Given the description of an element on the screen output the (x, y) to click on. 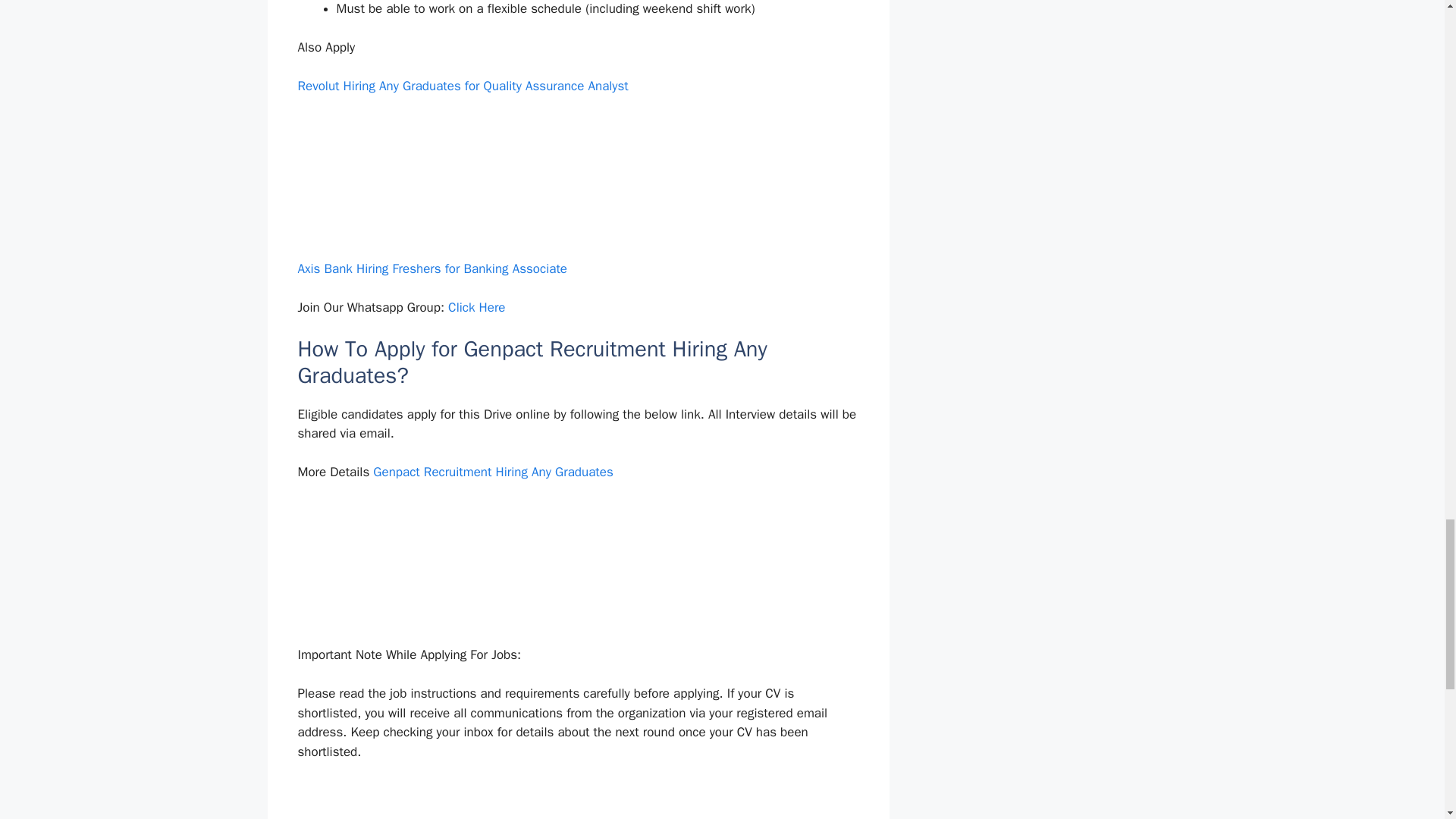
Axis Bank Hiring Freshers for Banking Associate (432, 268)
Genpact Recruitment Hiring Any Graduates (492, 471)
Click Here (476, 307)
Revolut Hiring Any Graduates for Quality Assurance Analyst (462, 85)
